Given the description of an element on the screen output the (x, y) to click on. 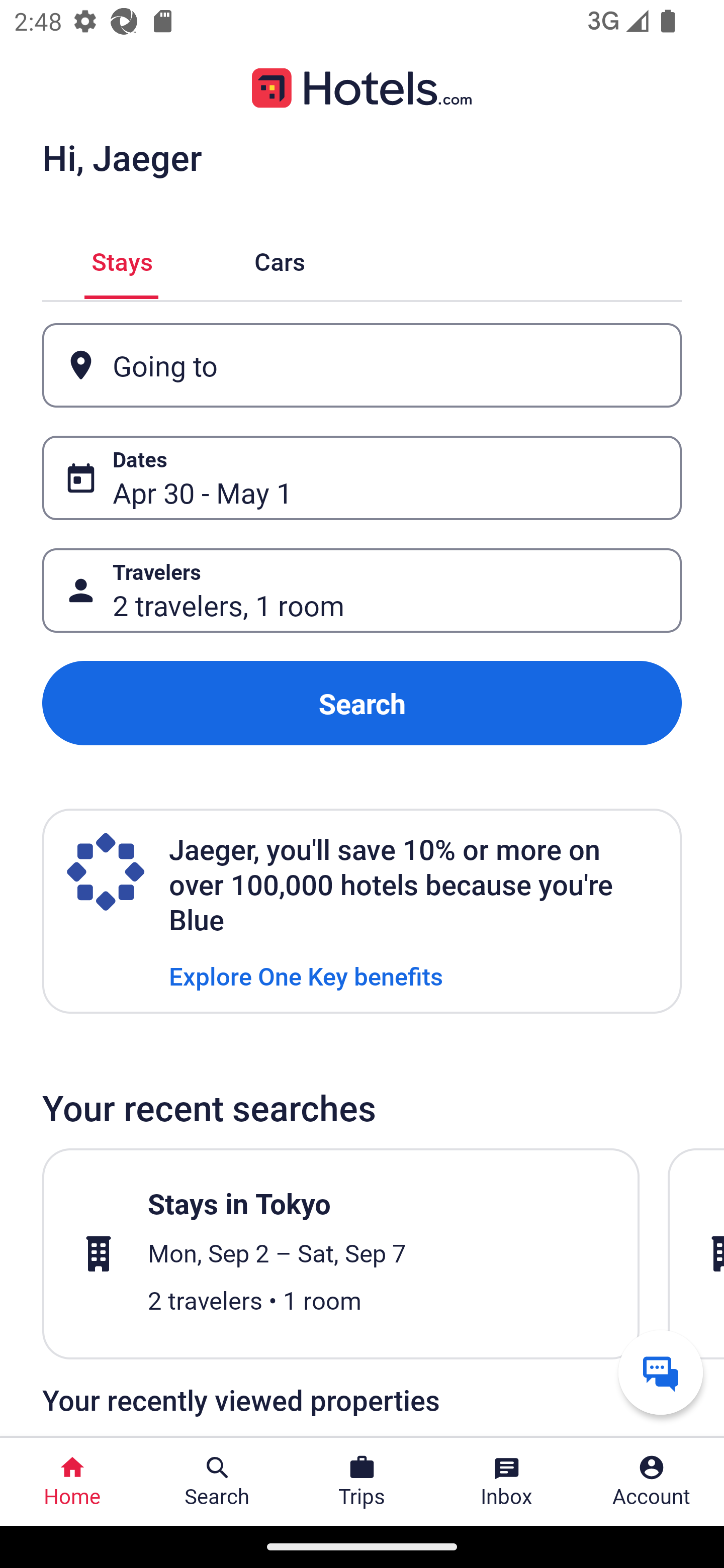
Hi, Jaeger (121, 156)
Cars (279, 259)
Going to Button (361, 365)
Dates Button Apr 30 - May 1 (361, 477)
Travelers Button 2 travelers, 1 room (361, 590)
Search (361, 702)
Get help from a virtual agent (660, 1371)
Search Search Button (216, 1481)
Trips Trips Button (361, 1481)
Inbox Inbox Button (506, 1481)
Account Profile. Button (651, 1481)
